Given the description of an element on the screen output the (x, y) to click on. 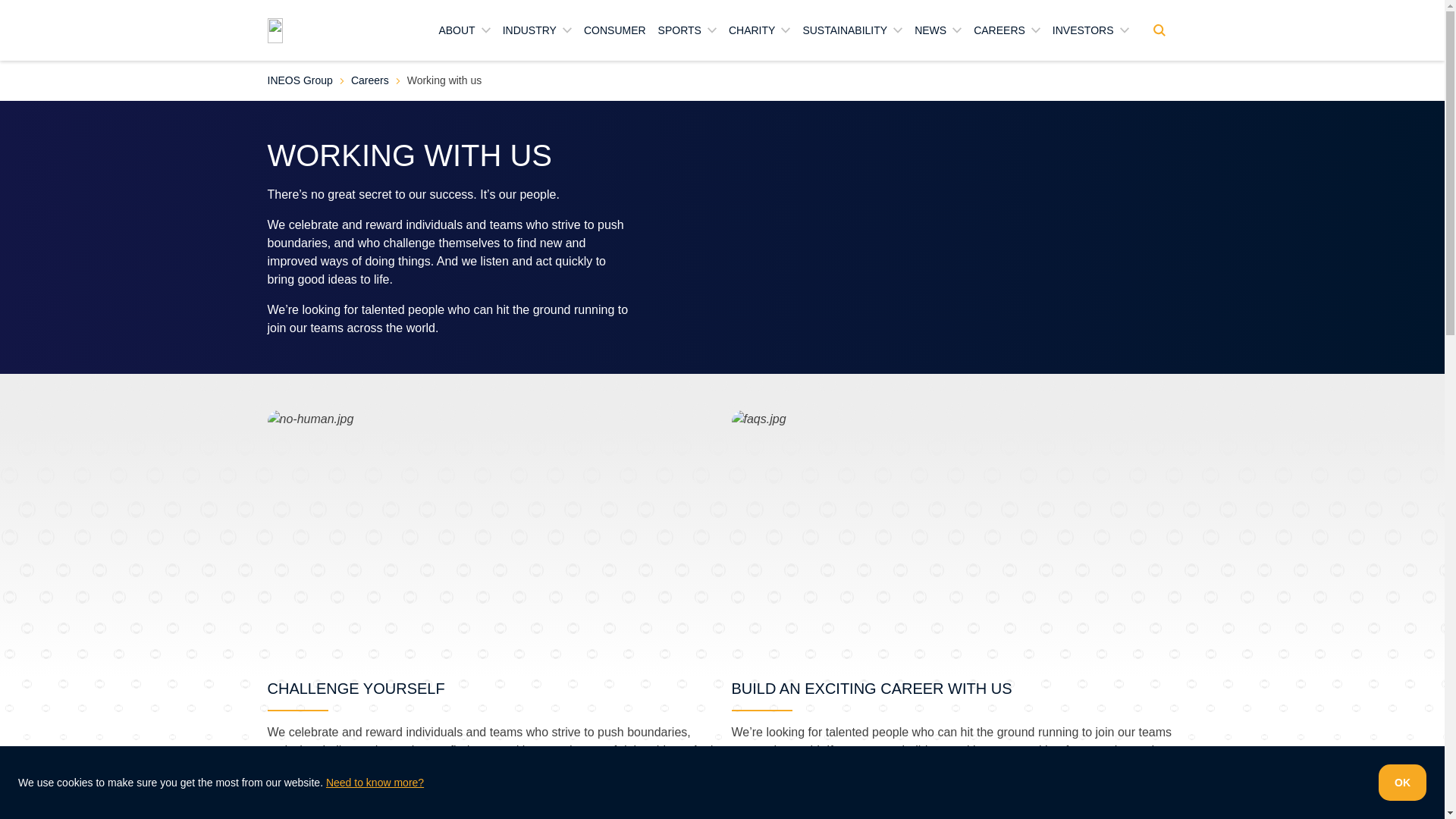
INDUSTRY (537, 30)
CHARITY (759, 30)
SPORTS (687, 30)
SUSTAINABILITY (852, 30)
CONSUMER (614, 30)
